Given the description of an element on the screen output the (x, y) to click on. 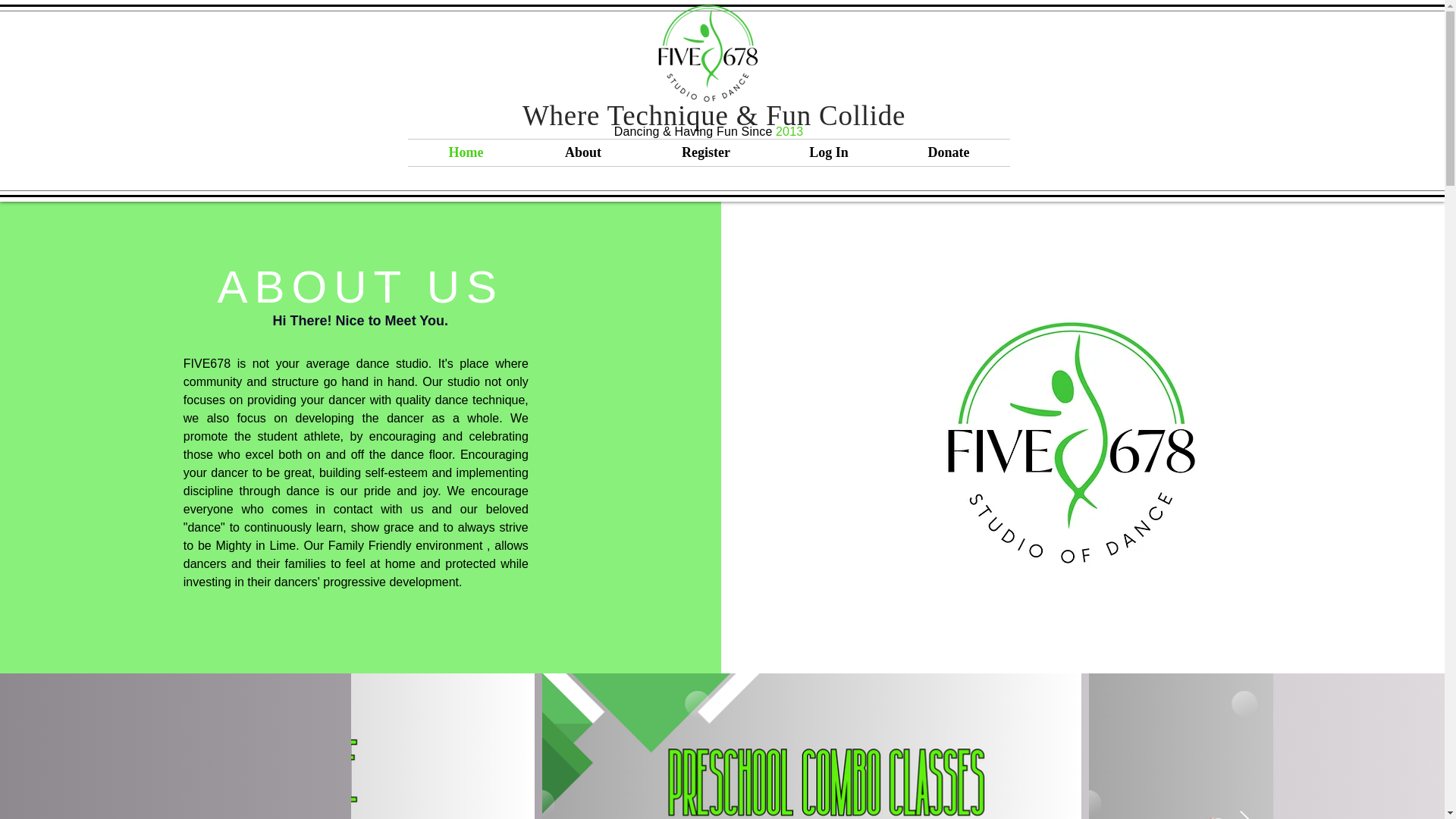
Log In (829, 152)
ABOUT US (359, 286)
Home (465, 152)
Donate (947, 152)
Register (706, 152)
About (583, 152)
